Given the description of an element on the screen output the (x, y) to click on. 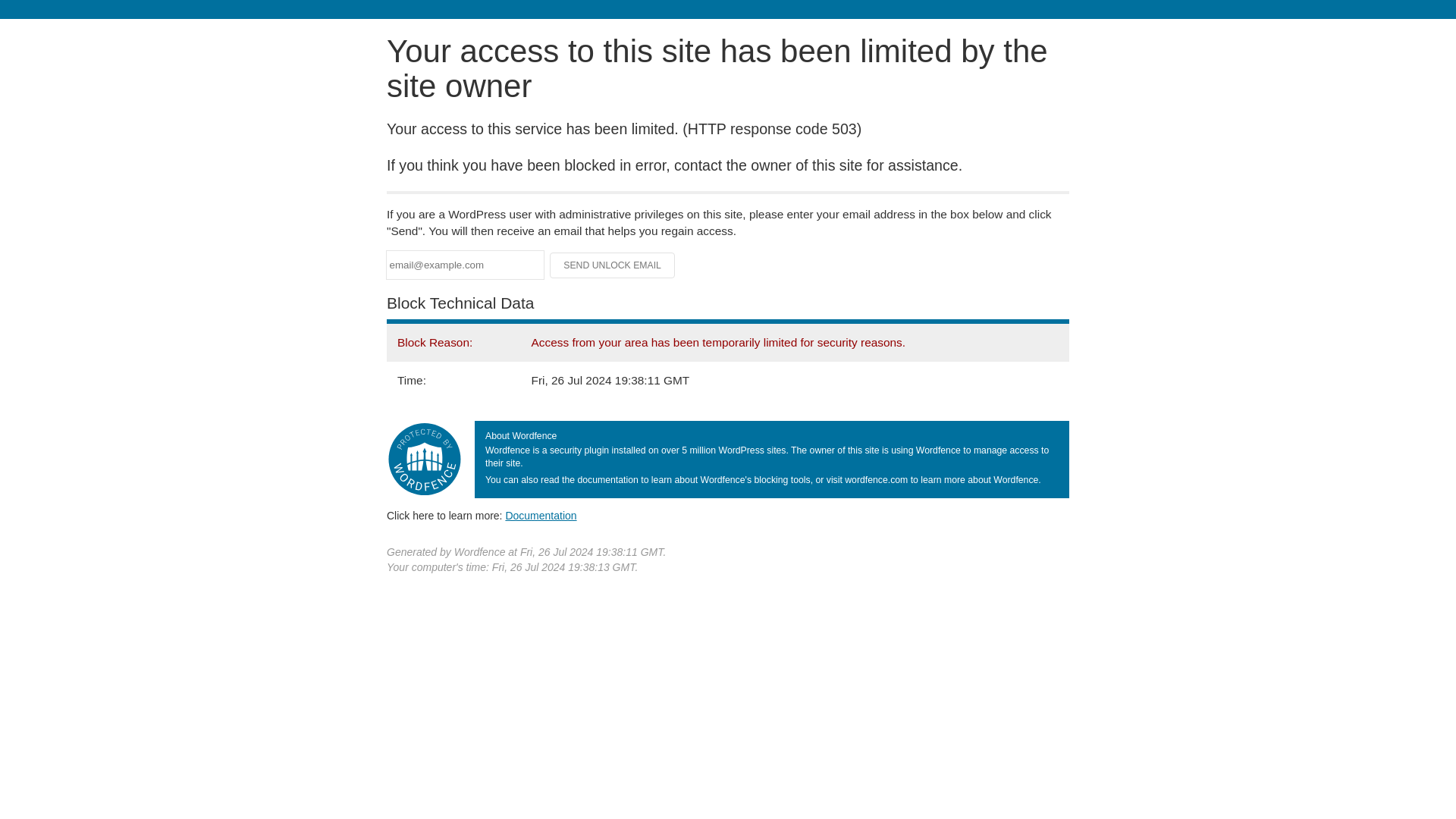
Send Unlock Email (612, 265)
Send Unlock Email (612, 265)
Documentation (540, 515)
